Given the description of an element on the screen output the (x, y) to click on. 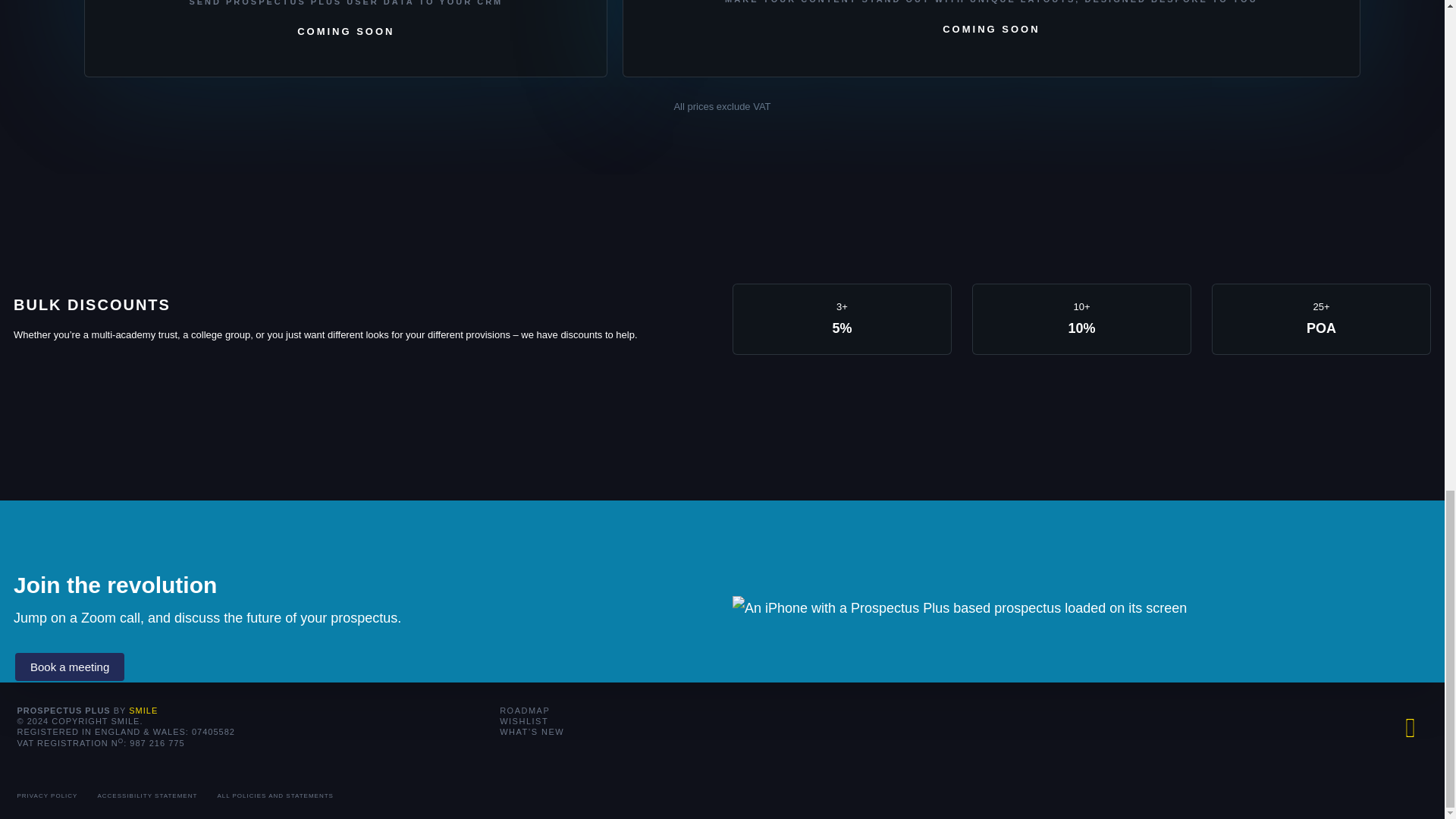
Book a meeting (69, 666)
